Given the description of an element on the screen output the (x, y) to click on. 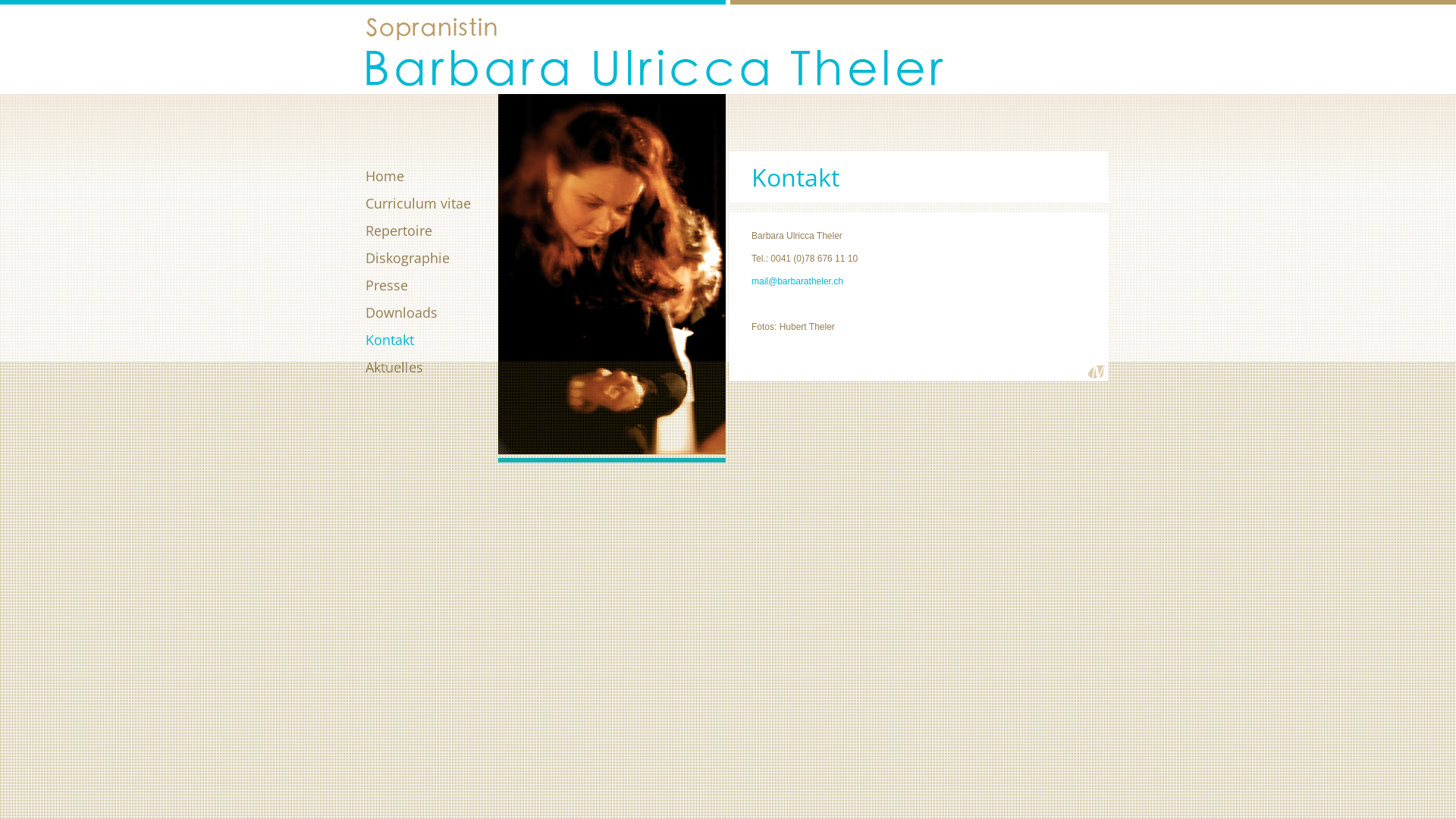
Downloads Element type: text (431, 312)
Aktuelles Element type: text (431, 366)
Curriculum vitae Element type: text (431, 203)
Kontakt Element type: text (431, 339)
Repertoire Element type: text (431, 230)
Joomla Internetagentur Masterhomepage GmbH Element type: hover (1096, 371)
Diskographie Element type: text (431, 257)
Home Element type: text (431, 175)
mail@barbaratheler.ch Element type: text (797, 281)
Presse Element type: text (431, 285)
